Given the description of an element on the screen output the (x, y) to click on. 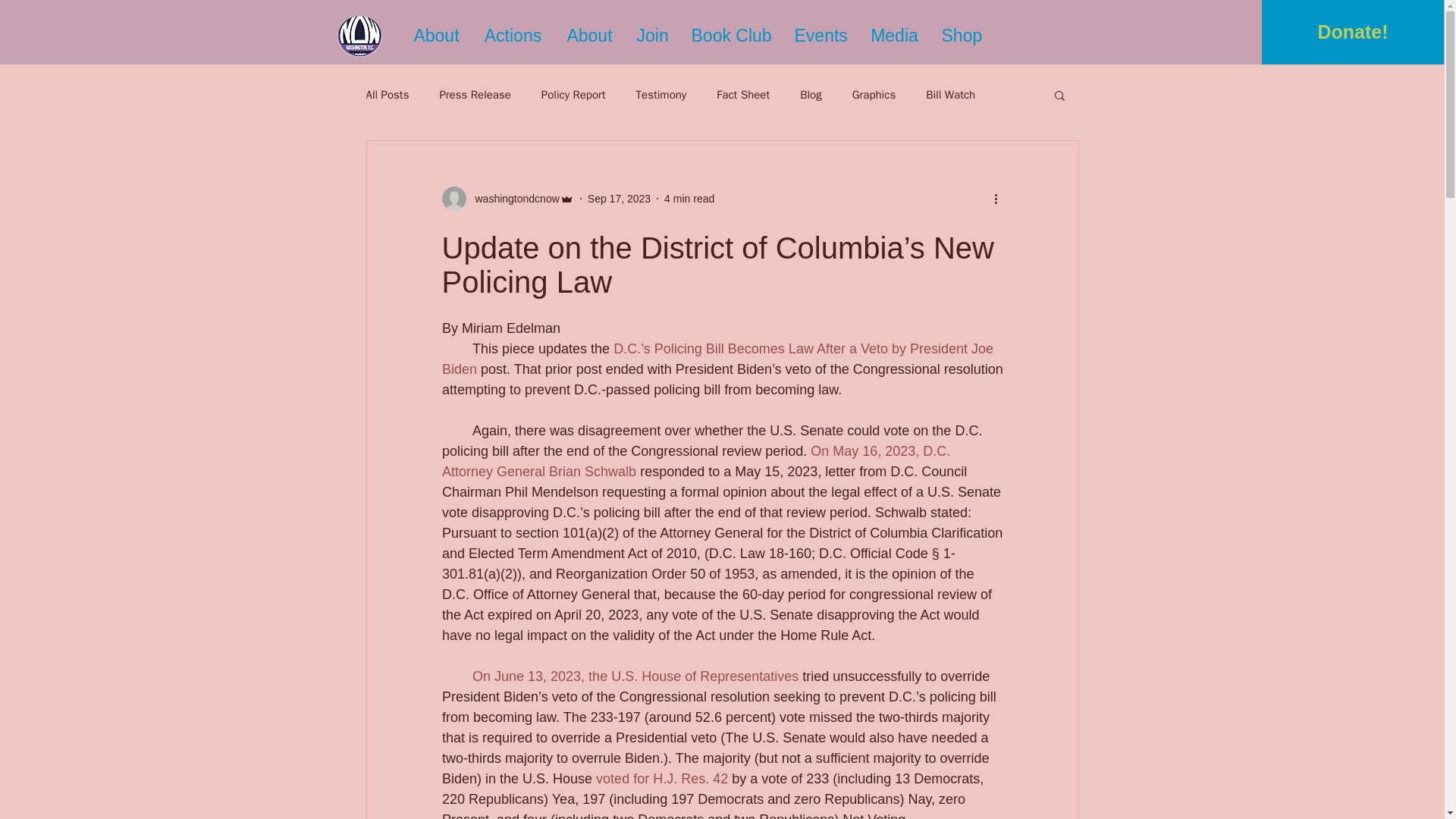
Press Release (475, 94)
Testimony (661, 94)
On May 16, 2023, D.C. Attorney General Brian Schwalb (696, 461)
Graphics (873, 94)
Sep 17, 2023 (619, 198)
Shop (961, 35)
Blog (810, 94)
Events (821, 35)
Bill Watch (950, 94)
voted for H.J. Res. 42 (661, 778)
On June 13, 2023, the U.S. House of Representatives (634, 676)
Media (894, 35)
washingtondcnow (512, 198)
Donate! (1353, 32)
Fact Sheet (743, 94)
